Given the description of an element on the screen output the (x, y) to click on. 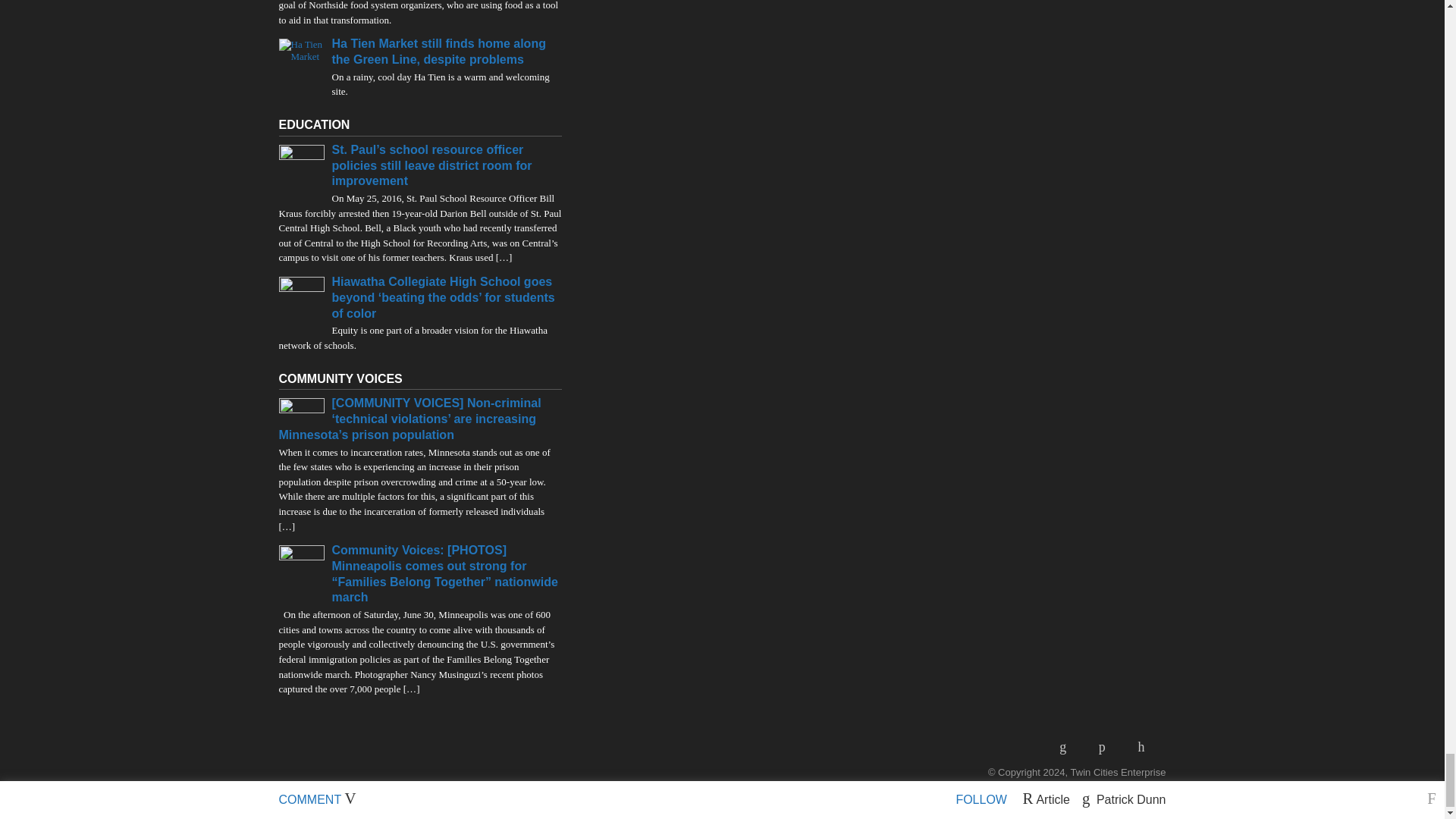
Link to Twitter Page (1146, 746)
Link to RSS Feed (1067, 746)
Link to Facebook Profile (1106, 746)
